Given the description of an element on the screen output the (x, y) to click on. 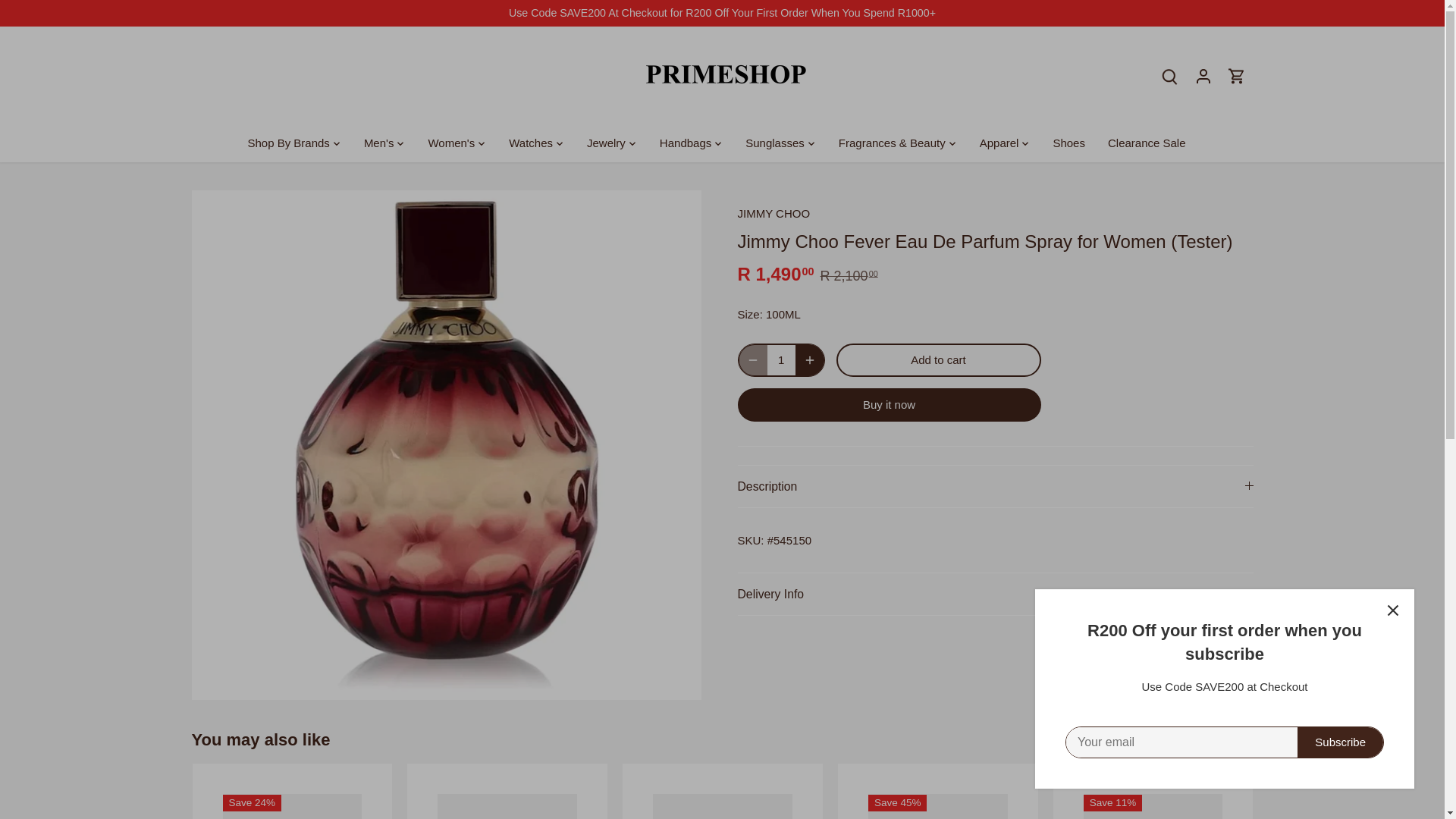
1 (781, 359)
Men's (379, 143)
Shop By Brands (293, 143)
